Given the description of an element on the screen output the (x, y) to click on. 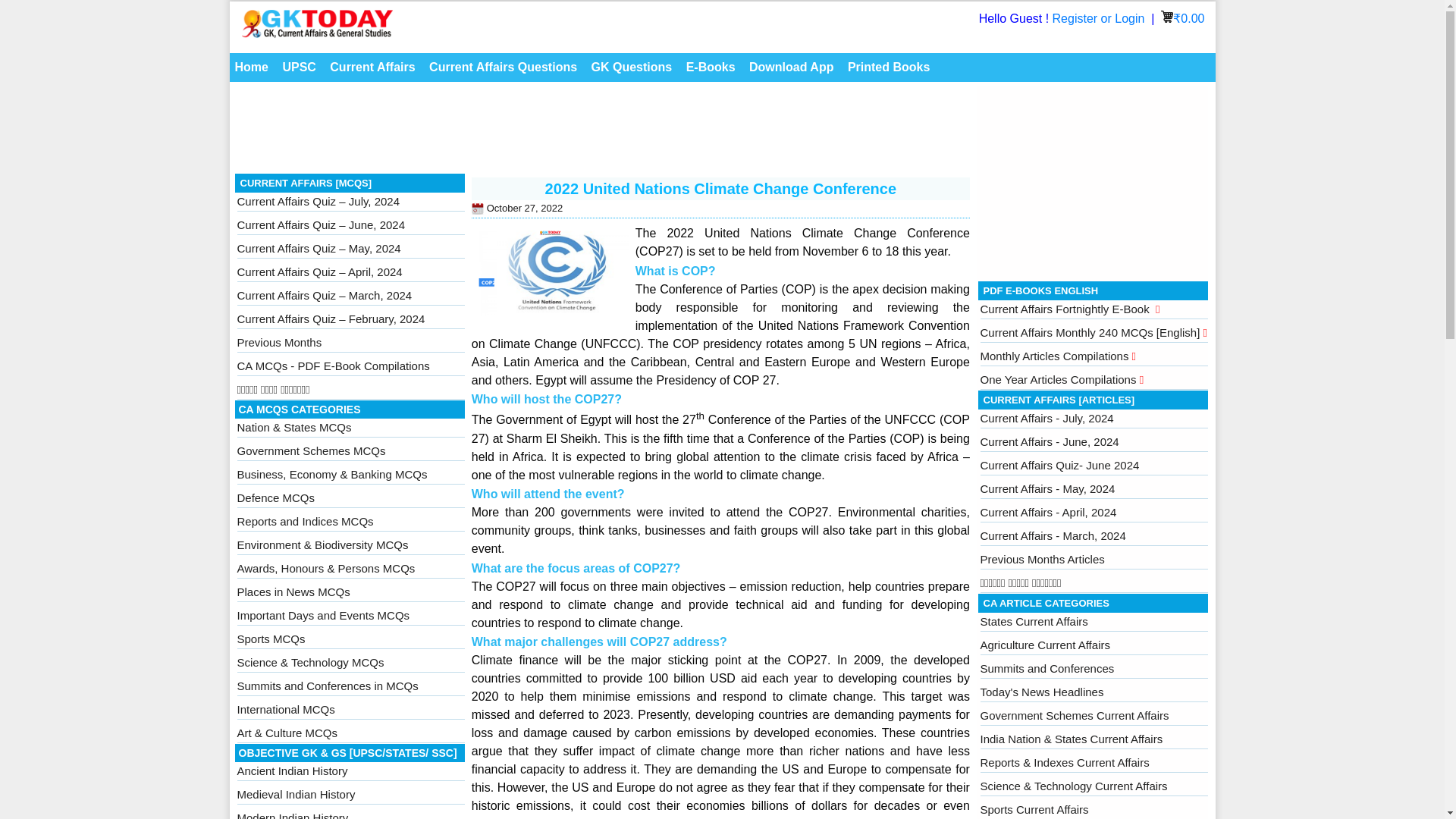
Home (250, 67)
Register or Login (1100, 18)
GK Questions (632, 67)
Previous Months (278, 341)
Current Affairs (372, 67)
CA MCQs - PDF E-Book Compilations (332, 365)
Advertisement (602, 131)
UPSC (298, 67)
Government Schemes MCQs (310, 450)
Advertisement (1093, 181)
Current Affairs Questions (502, 67)
Download App (791, 67)
Printed Books (888, 67)
E-Books (711, 67)
